Given the description of an element on the screen output the (x, y) to click on. 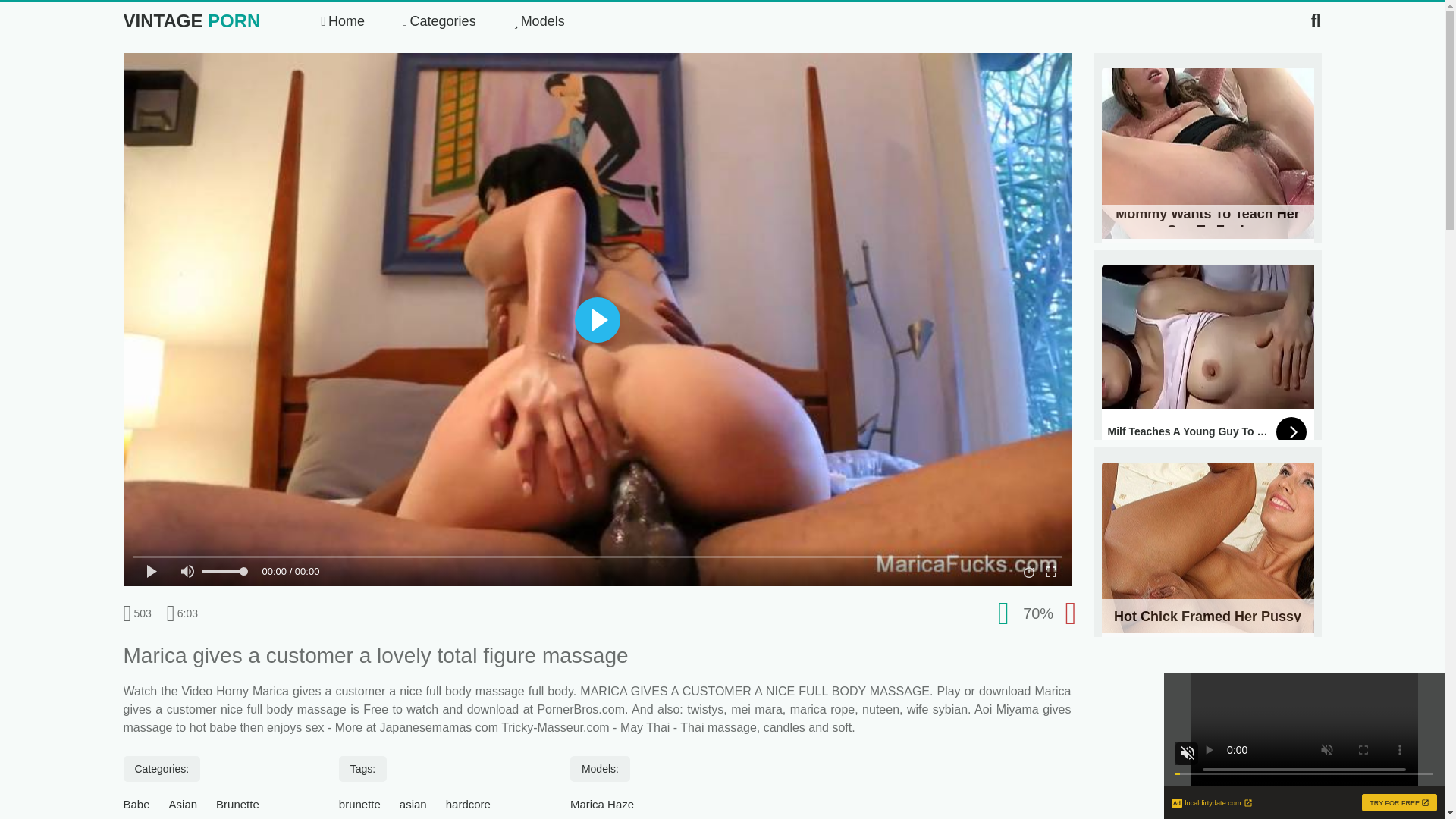
Asian (183, 804)
Models (538, 21)
Categories (439, 21)
Home (342, 21)
Milf Teaches A Young Guy To Fuck (1206, 360)
Brunette (237, 804)
brunette (359, 804)
Babe (1206, 556)
